Given the description of an element on the screen output the (x, y) to click on. 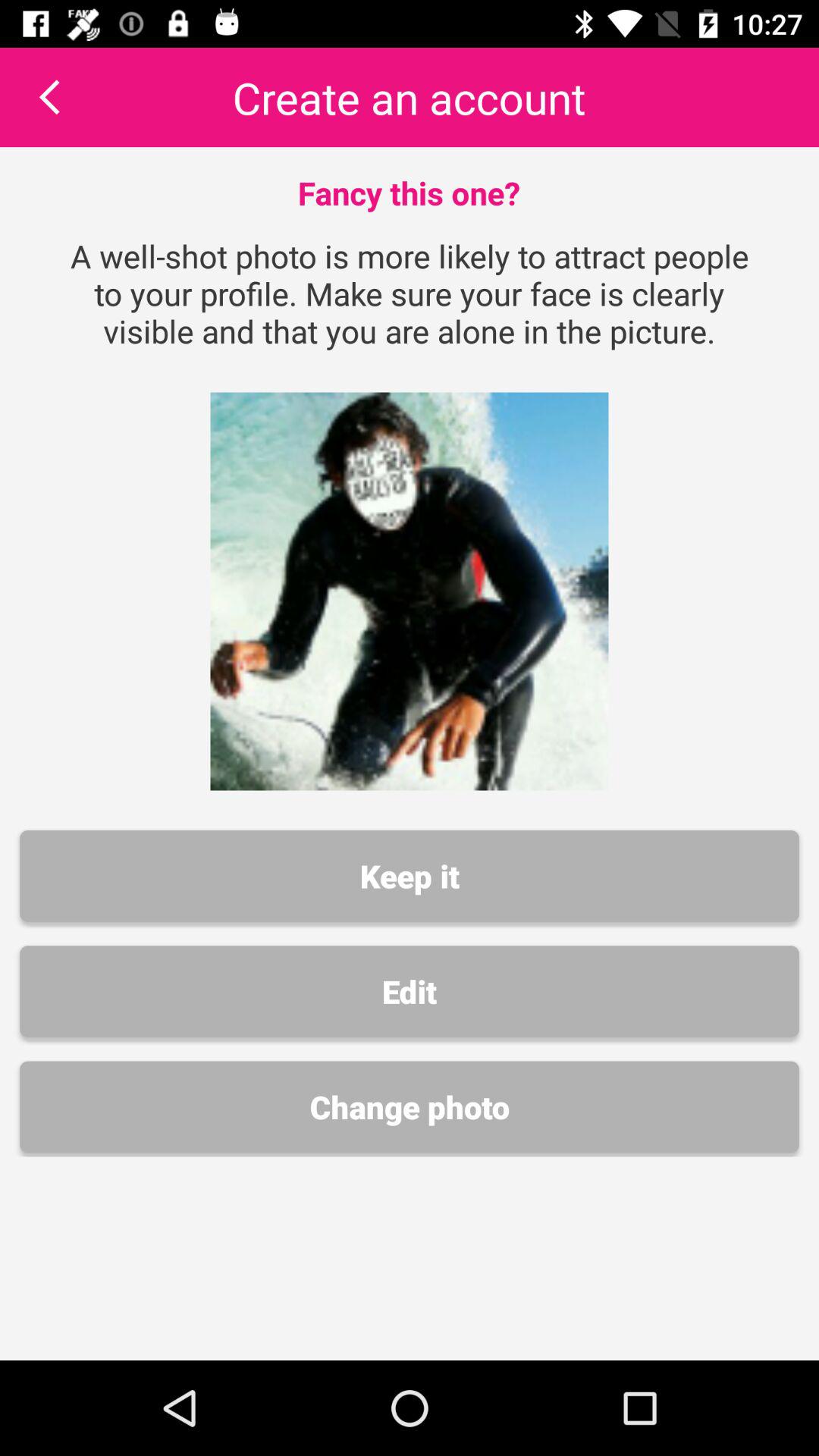
swipe to edit icon (409, 991)
